Given the description of an element on the screen output the (x, y) to click on. 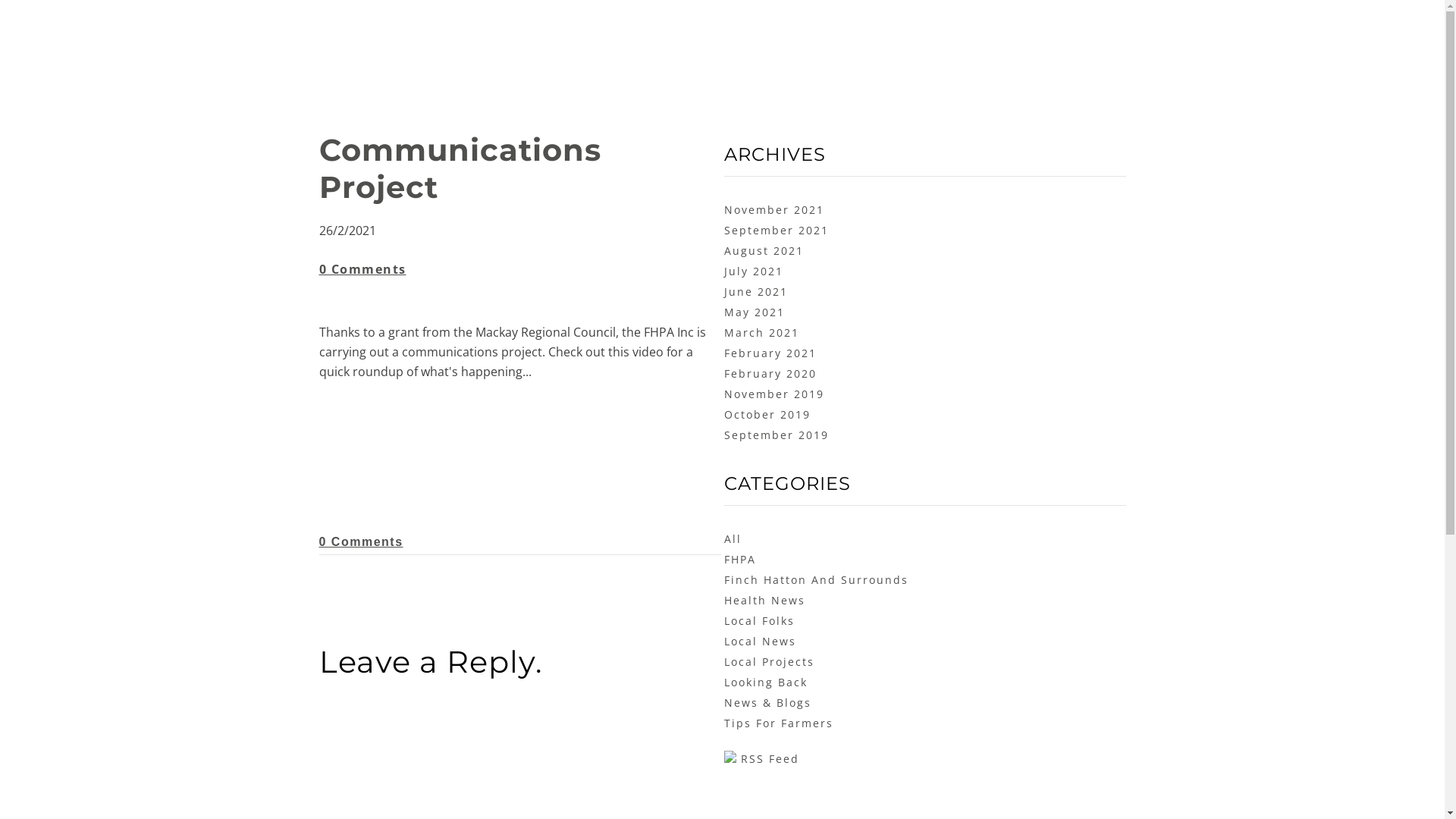
October 2019 Element type: text (766, 414)
RSS Feed Element type: text (760, 758)
May 2021 Element type: text (753, 311)
March 2021 Element type: text (760, 332)
February 2021 Element type: text (769, 352)
FHPA Element type: text (739, 559)
June 2021 Element type: text (755, 291)
Local Folks Element type: text (758, 620)
All Element type: text (731, 538)
Local News Element type: text (759, 640)
February 2020 Element type: text (769, 373)
Looking Back Element type: text (764, 681)
News & Blogs Element type: text (766, 702)
August 2021 Element type: text (763, 250)
Tips For Farmers Element type: text (777, 722)
0 Comments Element type: text (361, 268)
0 Comments Element type: text (360, 541)
September 2019 Element type: text (775, 434)
Finch Hatton And Surrounds Element type: text (815, 579)
Local Projects Element type: text (768, 661)
Communications Project Element type: text (459, 168)
September 2021 Element type: text (775, 229)
July 2021 Element type: text (752, 270)
November 2019 Element type: text (773, 393)
November 2021 Element type: text (773, 209)
Health News Element type: text (763, 600)
